Given the description of an element on the screen output the (x, y) to click on. 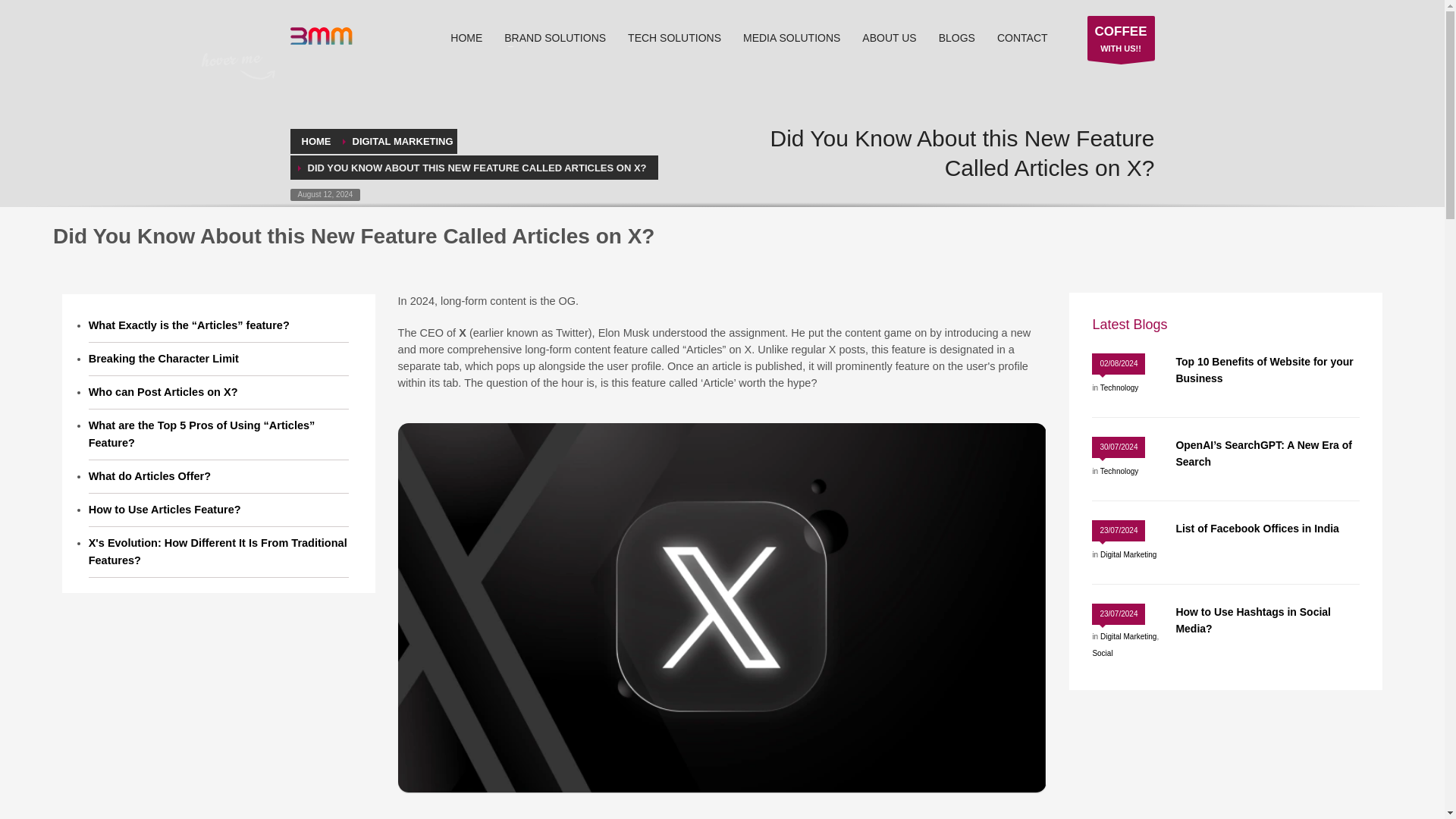
BRAND SOLUTIONS (554, 37)
ABOUT US (888, 37)
MEDIA SOLUTIONS (790, 37)
TECH SOLUTIONS (674, 37)
HOME (466, 37)
